Given the description of an element on the screen output the (x, y) to click on. 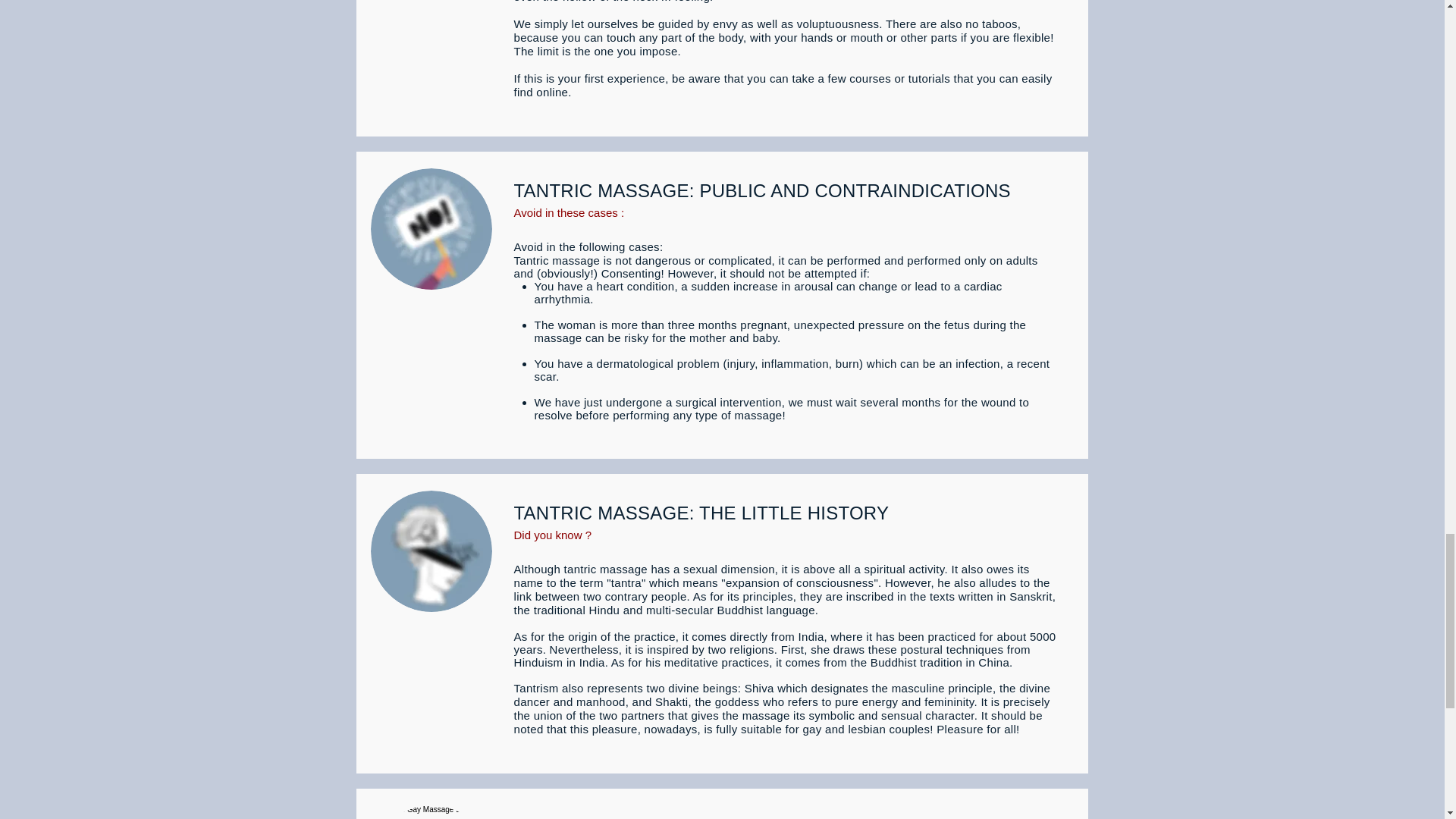
Tantric Gay Massage Brussels (430, 812)
Tantric Gay Massage Brussels (430, 228)
Tantric Gay Massage Brussels (430, 550)
